Given the description of an element on the screen output the (x, y) to click on. 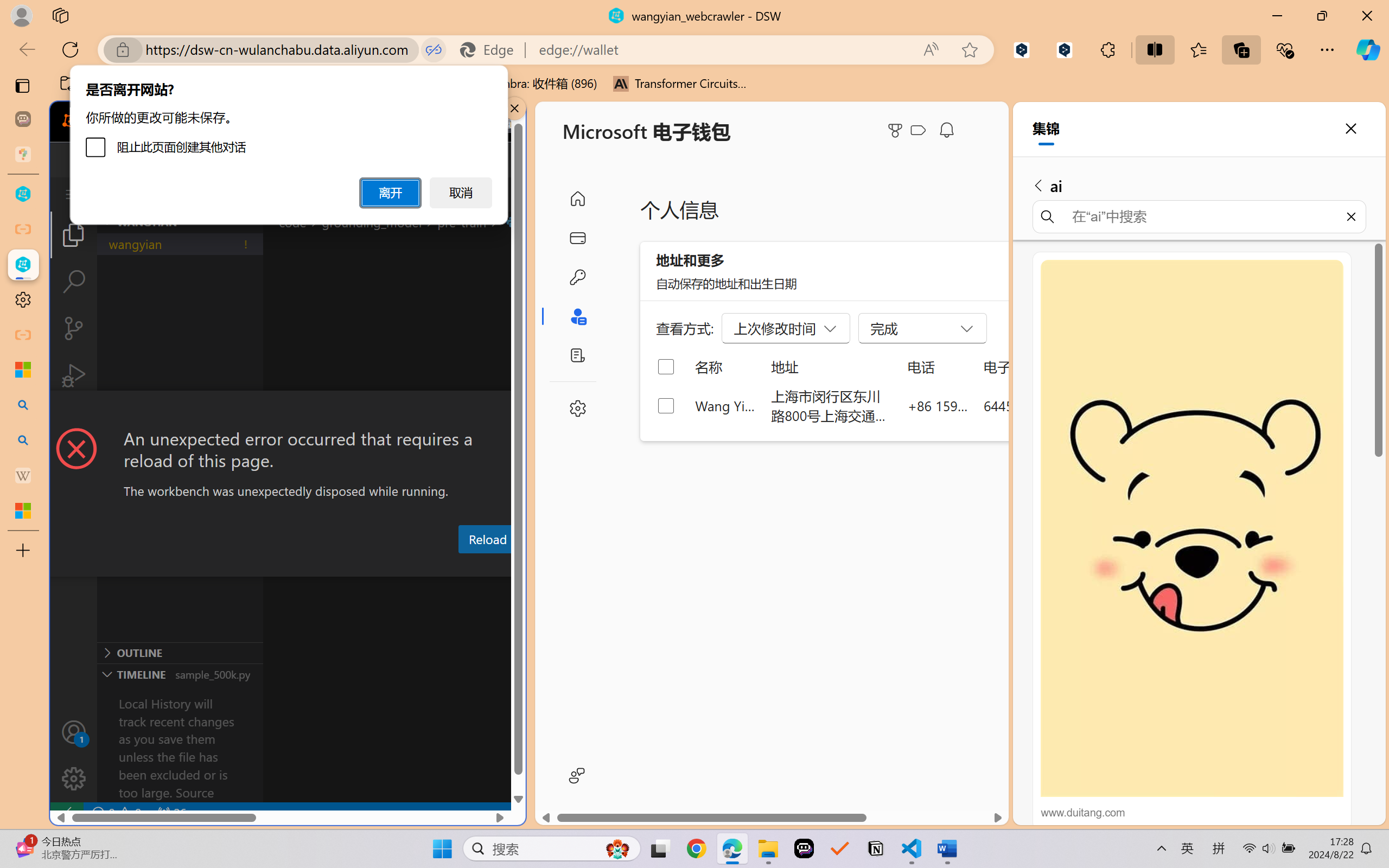
Class: actions-container (287, 410)
Transformer Circuits Thread (680, 83)
Reload (486, 538)
